Given the description of an element on the screen output the (x, y) to click on. 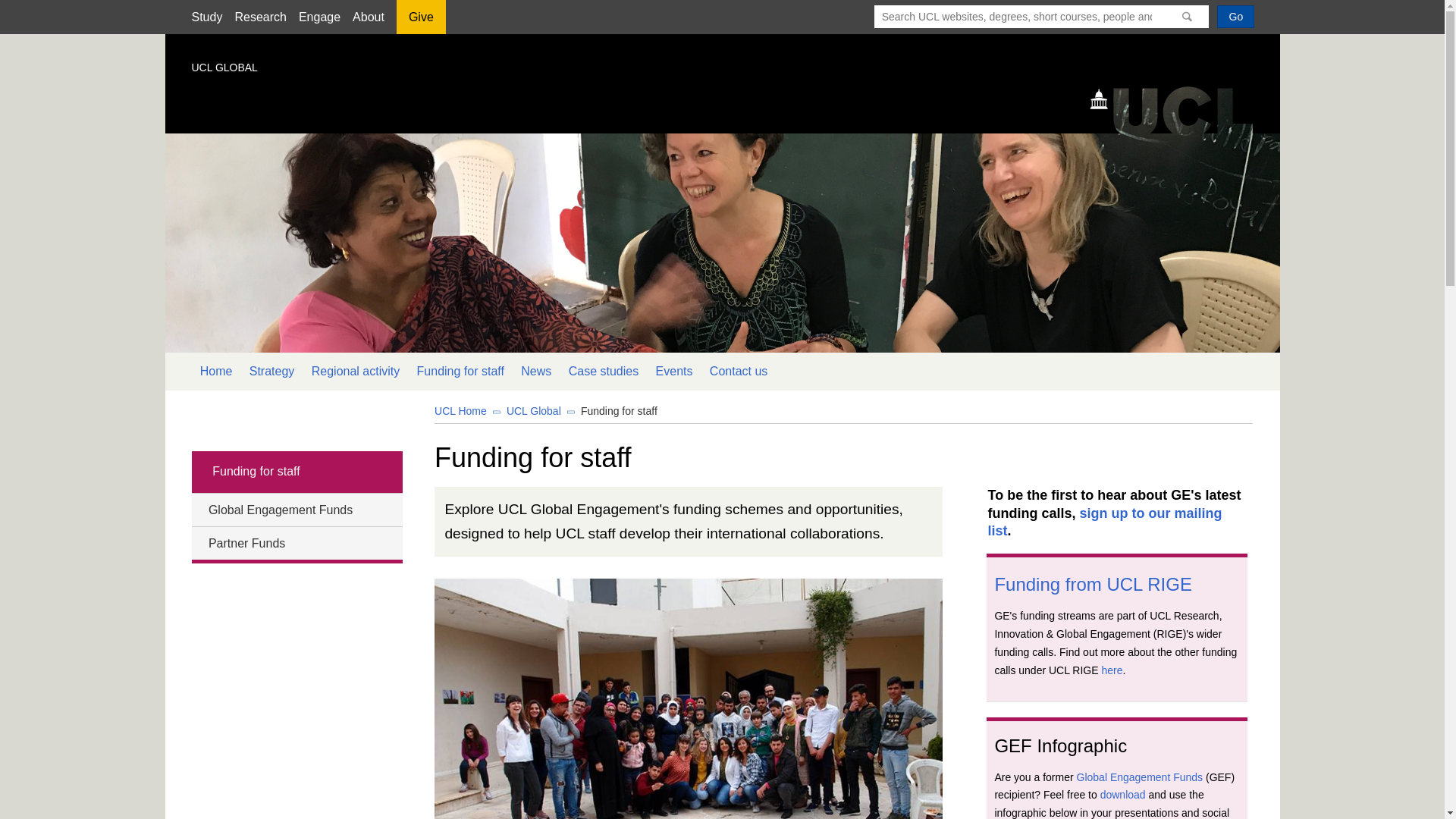
sign up to our mailing list (1105, 522)
Global Engagement Funds (1140, 776)
Case studies (602, 371)
Funding from UCL RIGE (1093, 584)
Funding for staff (295, 472)
here (1111, 670)
About (368, 16)
Home (215, 371)
Funding for staff (619, 410)
Engage (319, 16)
Events (673, 371)
Contact us (738, 371)
Research (259, 16)
Regional activity (355, 371)
download (1122, 794)
